Given the description of an element on the screen output the (x, y) to click on. 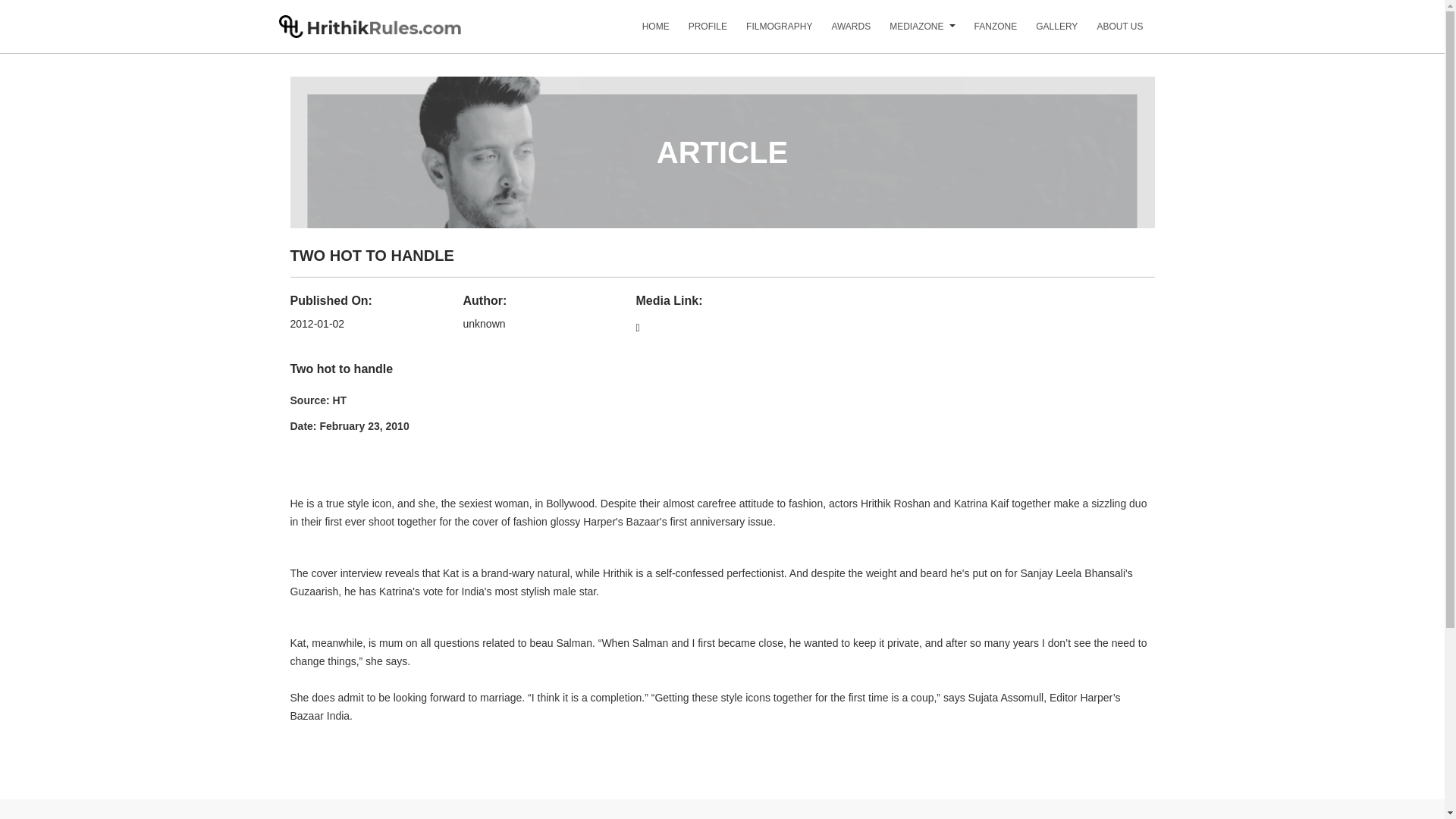
AWARDS (841, 31)
FILMOGRAPHY (769, 31)
PROFILE (697, 31)
ABOUT US (1109, 31)
HOME (646, 31)
MEDIAZONE (906, 31)
FANZONE (986, 31)
GALLERY (1046, 31)
